Given the description of an element on the screen output the (x, y) to click on. 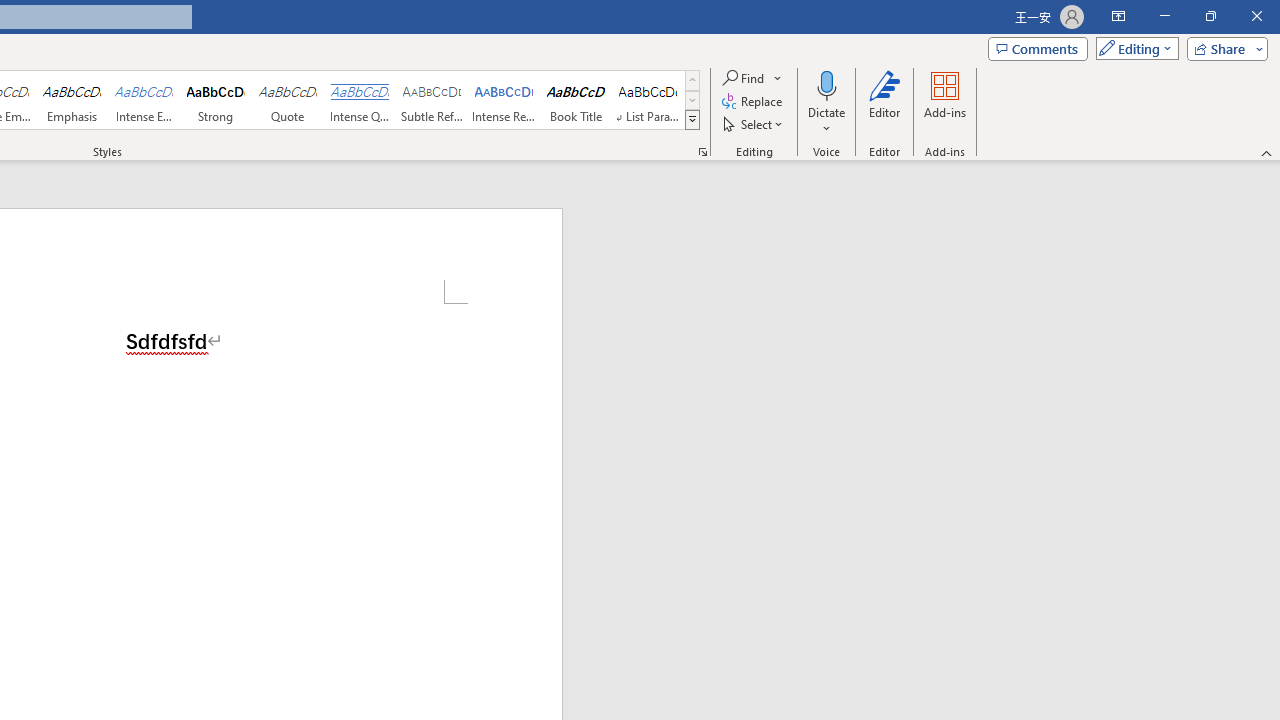
Intense Quote (359, 100)
